Given the description of an element on the screen output the (x, y) to click on. 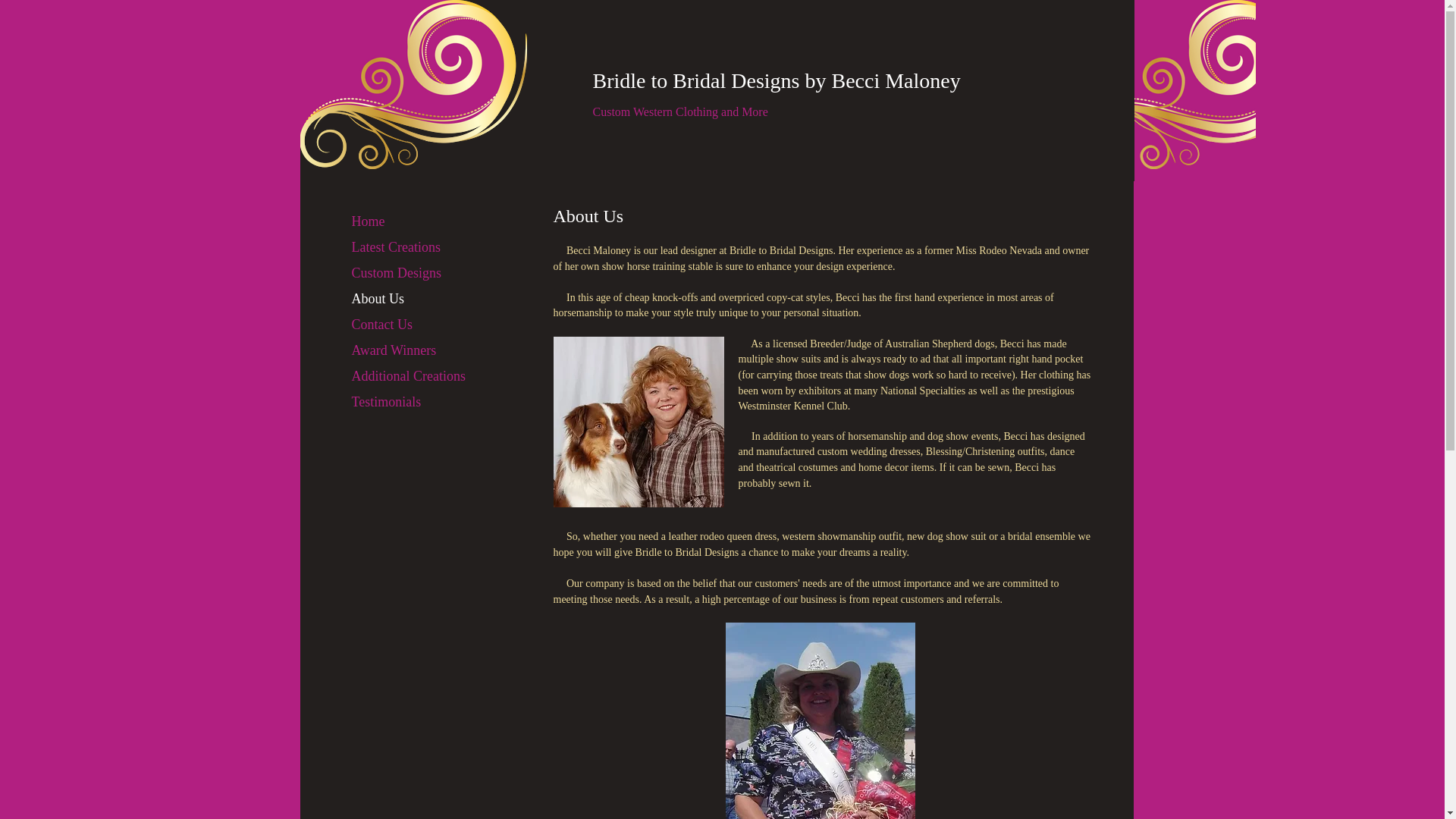
Testimonials (386, 402)
Award Winners (393, 350)
Additional Creations (408, 376)
Contact Us (381, 324)
Custom Designs (396, 273)
Latest Creations (395, 247)
Home (368, 221)
About Us (377, 299)
